Given the description of an element on the screen output the (x, y) to click on. 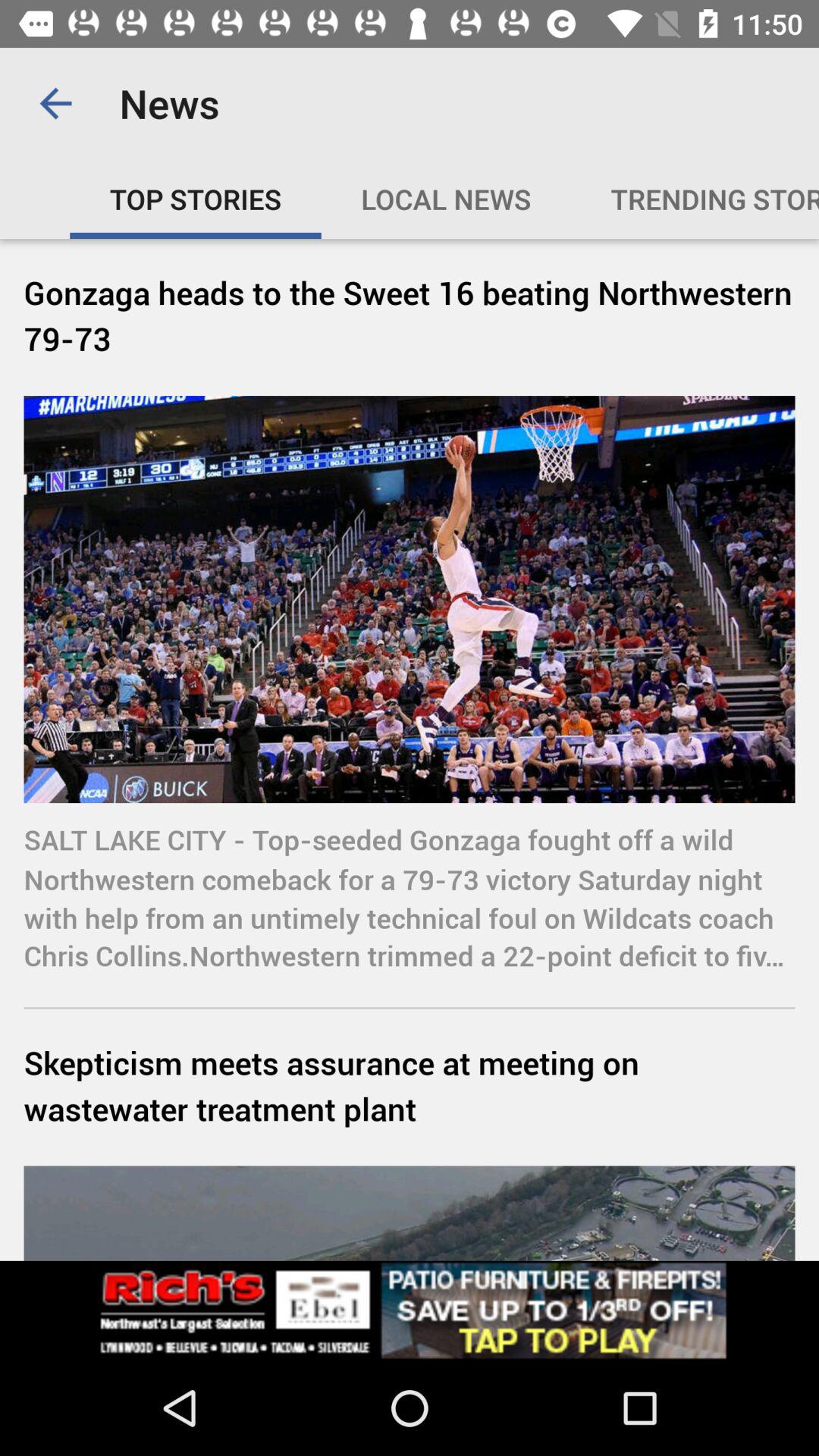
select the image which is present bottom of the page (409, 1213)
